Given the description of an element on the screen output the (x, y) to click on. 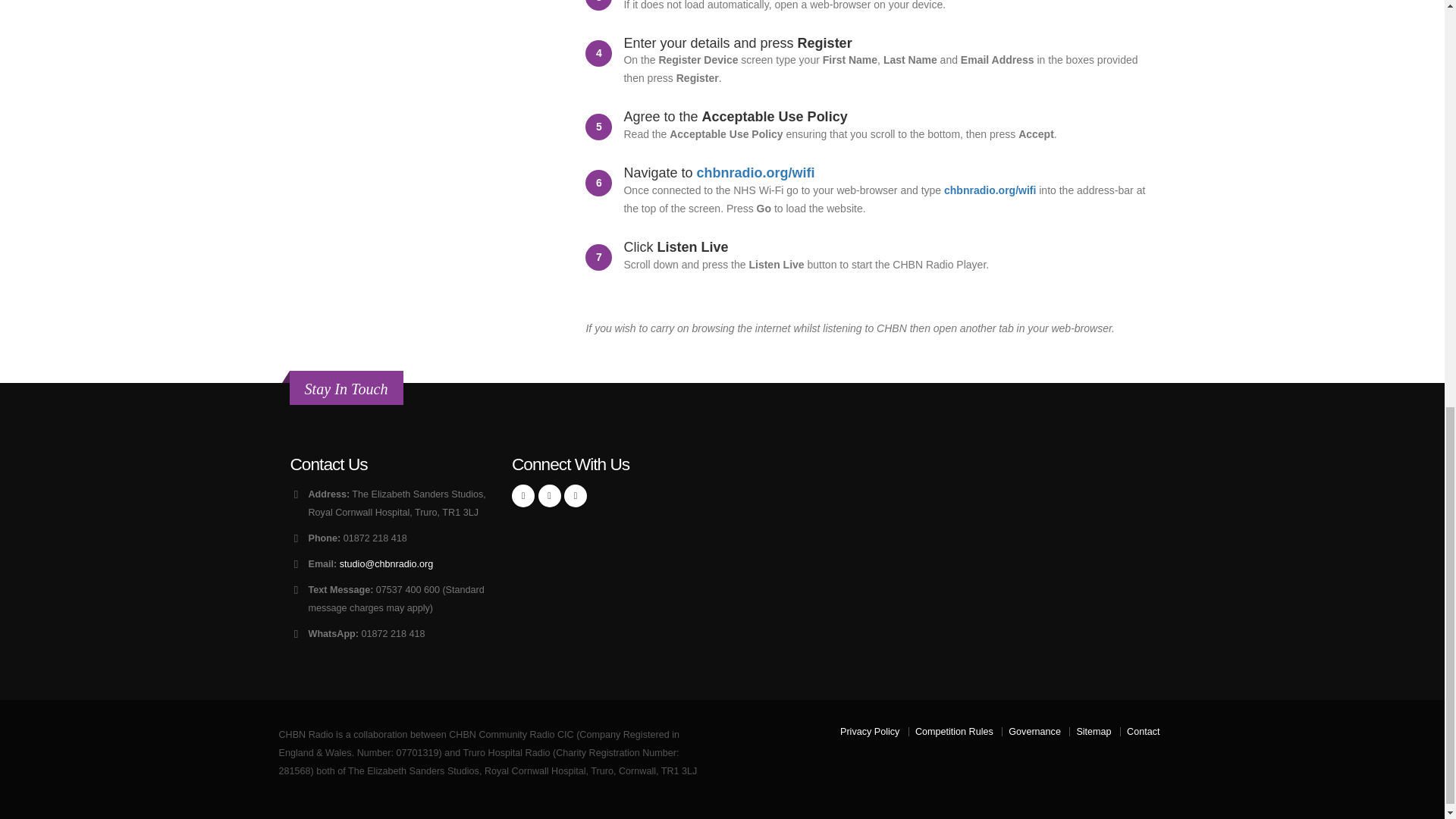
Facebook (523, 495)
Twitter (549, 495)
Youtube (575, 495)
